Given the description of an element on the screen output the (x, y) to click on. 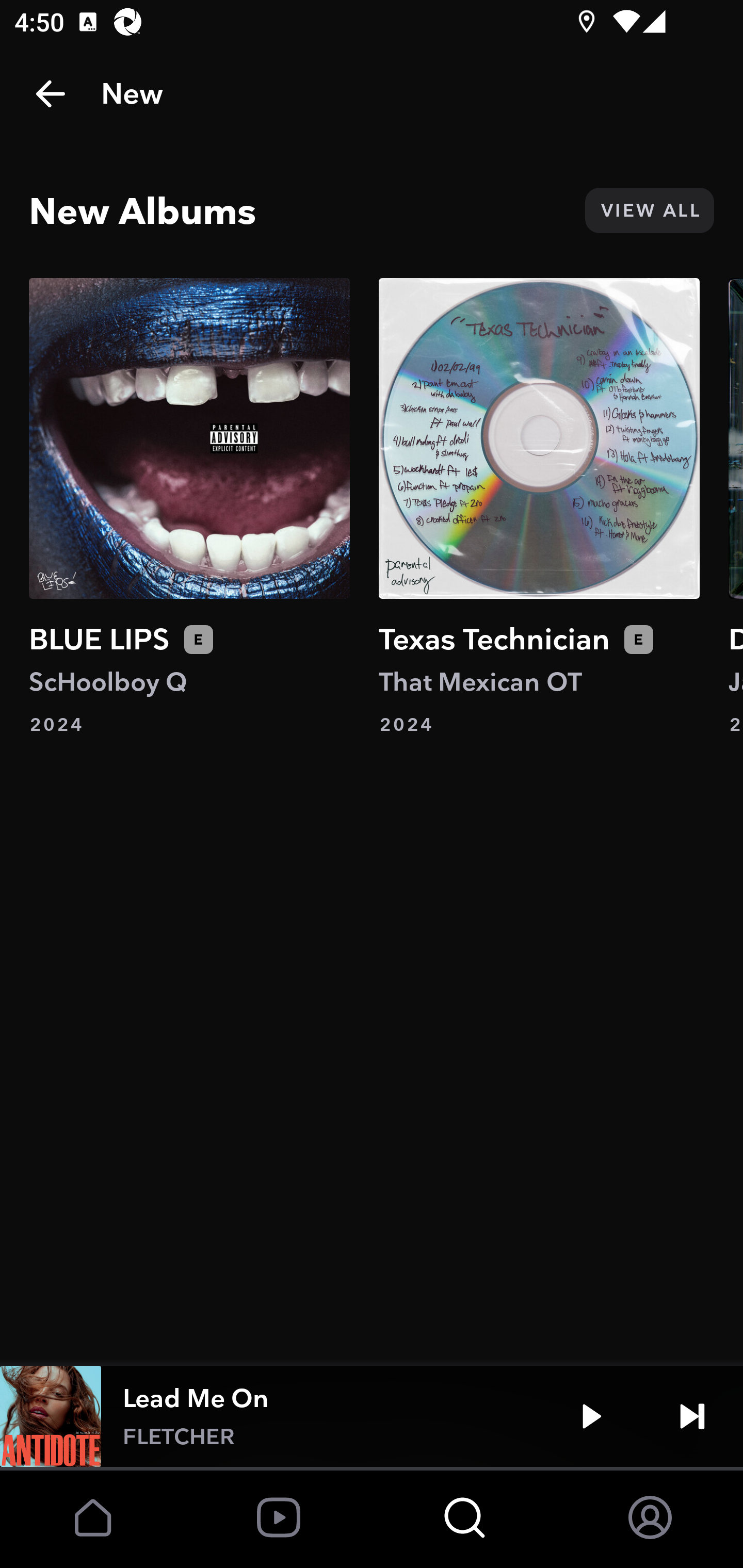
VIEW ALL (649, 210)
BLUE LIPS ScHoolboy Q 2024 (188, 506)
Texas Technician That Mexican OT 2024 (538, 506)
Lead Me On FLETCHER Play (371, 1416)
Play (590, 1416)
